Given the description of an element on the screen output the (x, y) to click on. 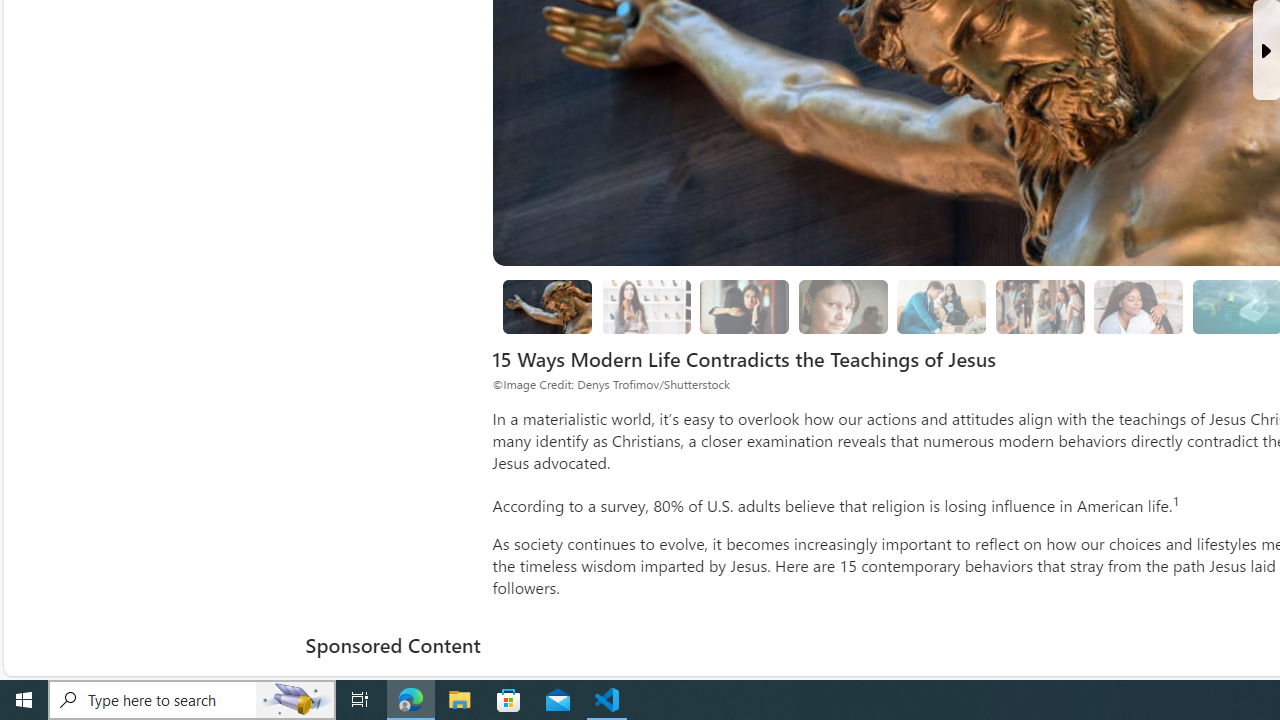
4. The Manipulative (744, 307)
15 Truths About Jesus Christ for Every Believer (546, 306)
15 Truths About Jesus Christ for Every Believer (547, 307)
9. Gossiping and Backbiting (1039, 307)
2. Lack of Support & Encouragement (941, 306)
9. Gossiping and Backbiting (1039, 306)
4. The Manipulative (743, 306)
2. Lack of Support & Encouragement (941, 307)
Class: progress (1138, 303)
